Given the description of an element on the screen output the (x, y) to click on. 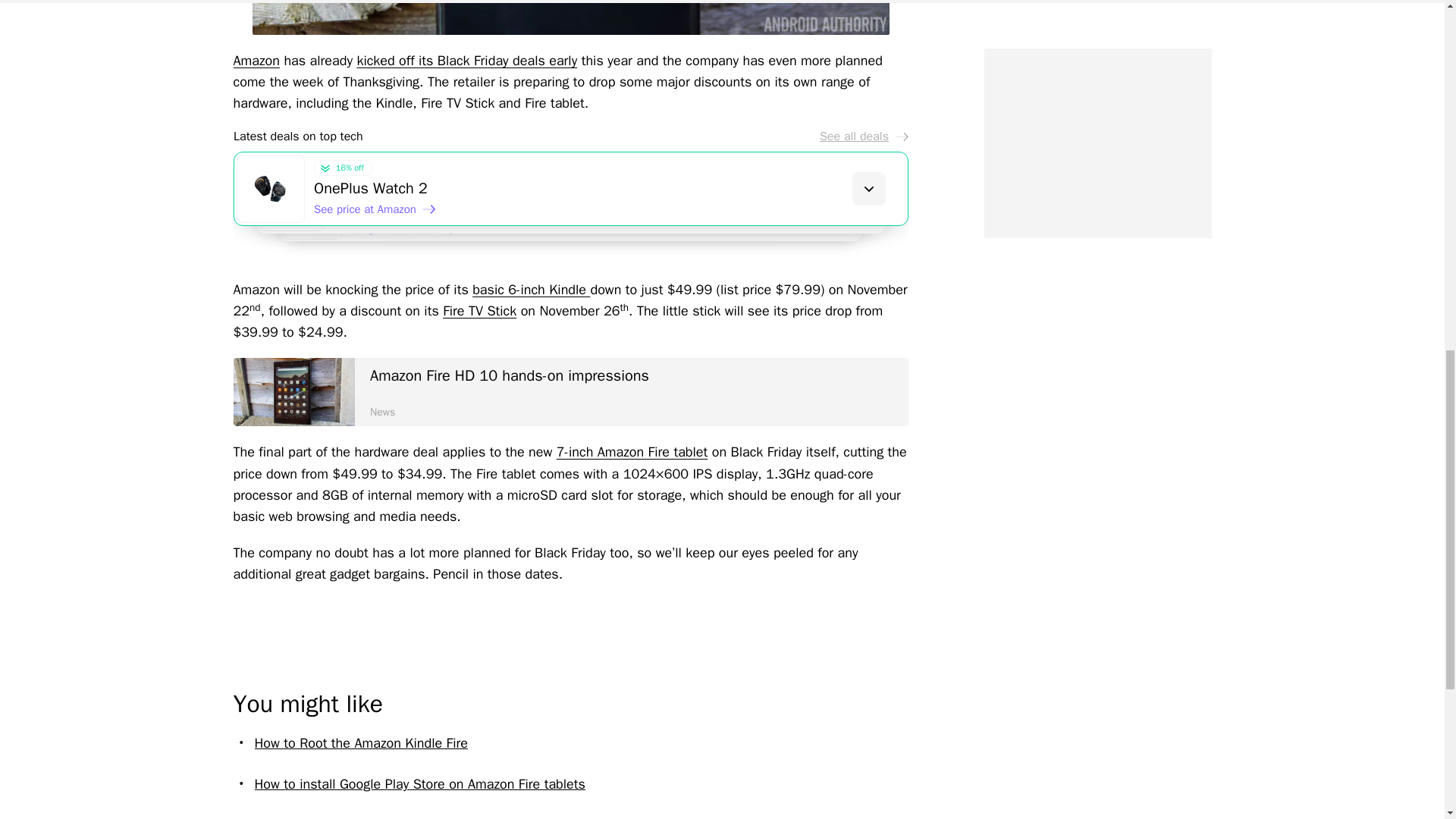
See price at Amazon (391, 222)
See all deals (862, 136)
kicked off its Black Friday deals early (466, 60)
See price at Amazon (409, 234)
Fire TV Stick (479, 310)
basic 6-inch Kindle (530, 289)
See price at Amazon (374, 209)
OnePlus Watch 2 (609, 188)
Amazon (256, 60)
